Given the description of an element on the screen output the (x, y) to click on. 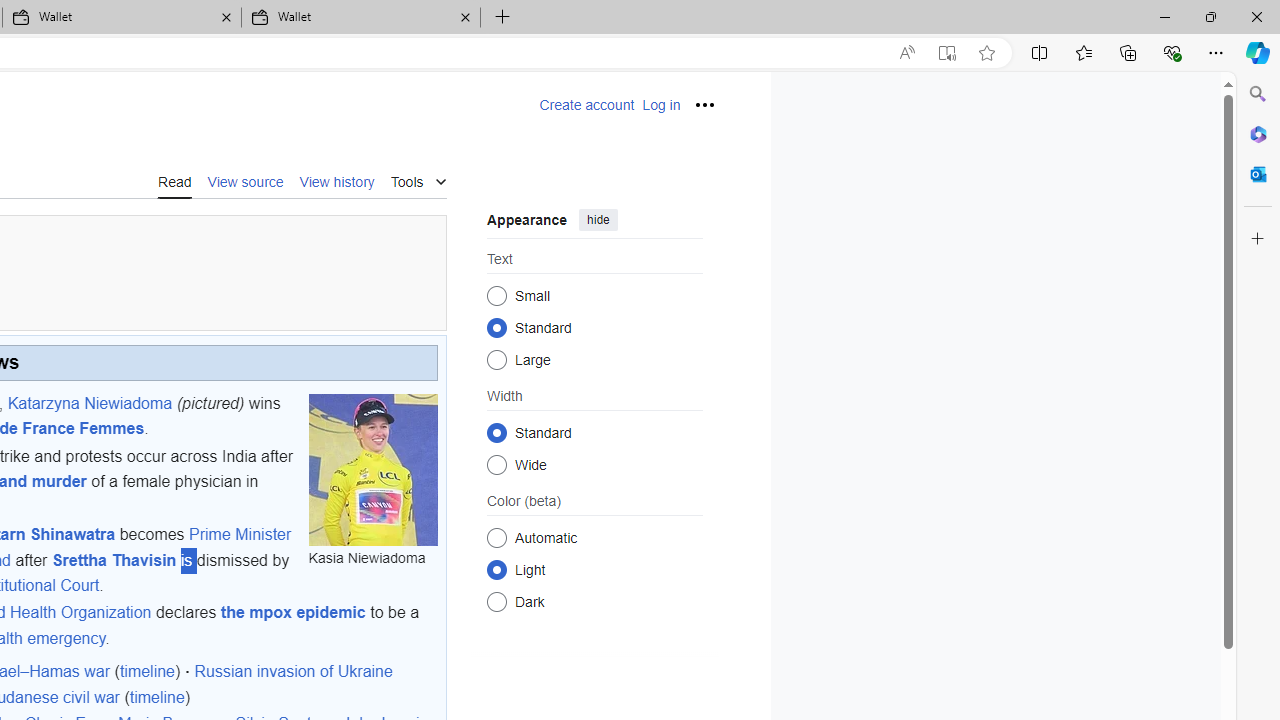
Create account (586, 105)
Small (496, 295)
Create account (586, 105)
the mpox epidemic (293, 613)
Kasia Niewiadoma (372, 469)
View source (245, 180)
Katarzyna Niewiadoma (89, 402)
View history (337, 181)
View history (337, 180)
Close Outlook pane (1258, 174)
Read (174, 180)
Enter Immersive Reader (F9) (946, 53)
